Given the description of an element on the screen output the (x, y) to click on. 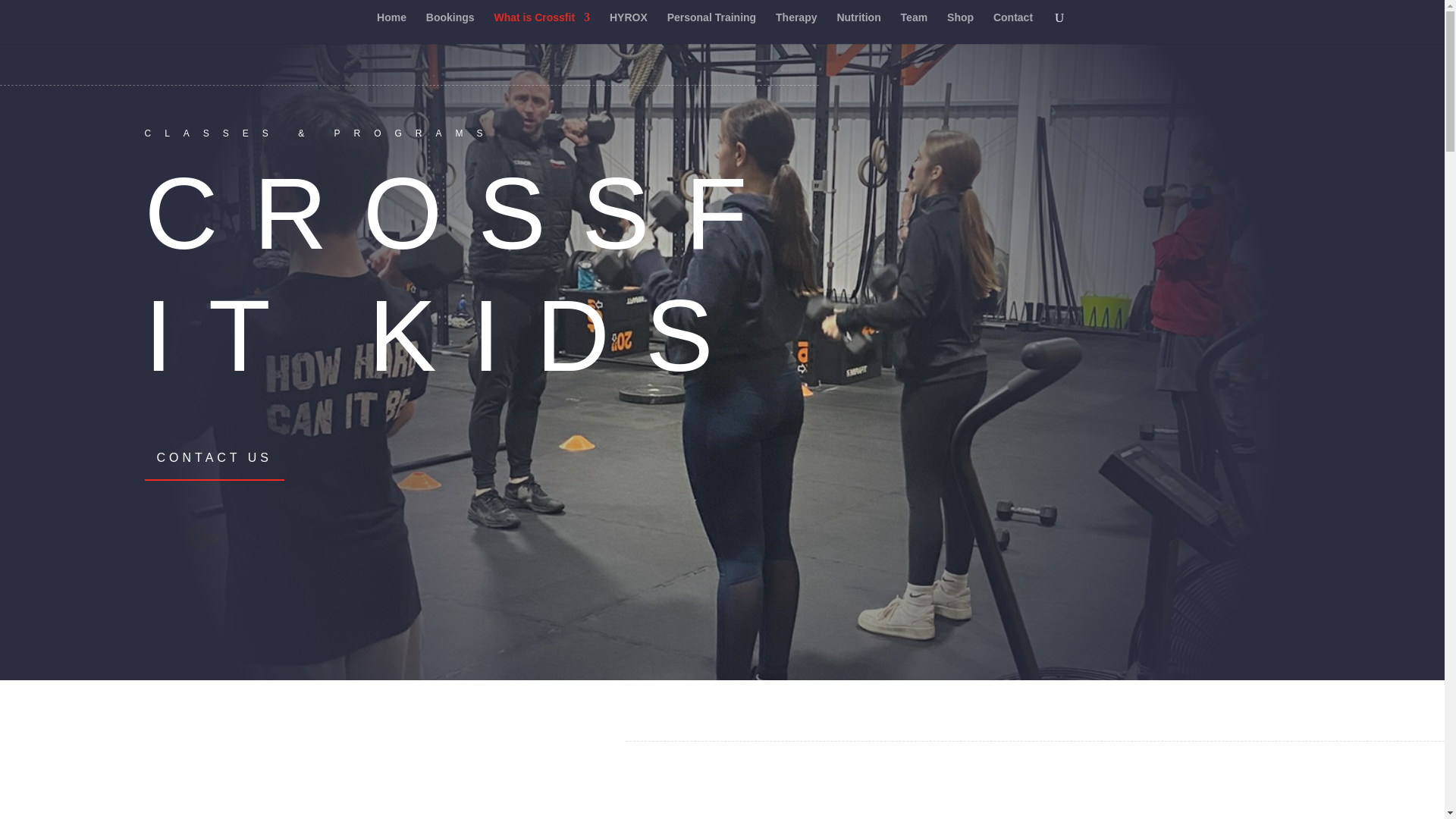
Personal Training (710, 28)
Therapy (796, 28)
CONTACT US (213, 457)
HYROX (628, 28)
Bookings (450, 28)
What is Crossfit (543, 28)
Contact (1012, 28)
Home (391, 28)
Nutrition (857, 28)
